Given the description of an element on the screen output the (x, y) to click on. 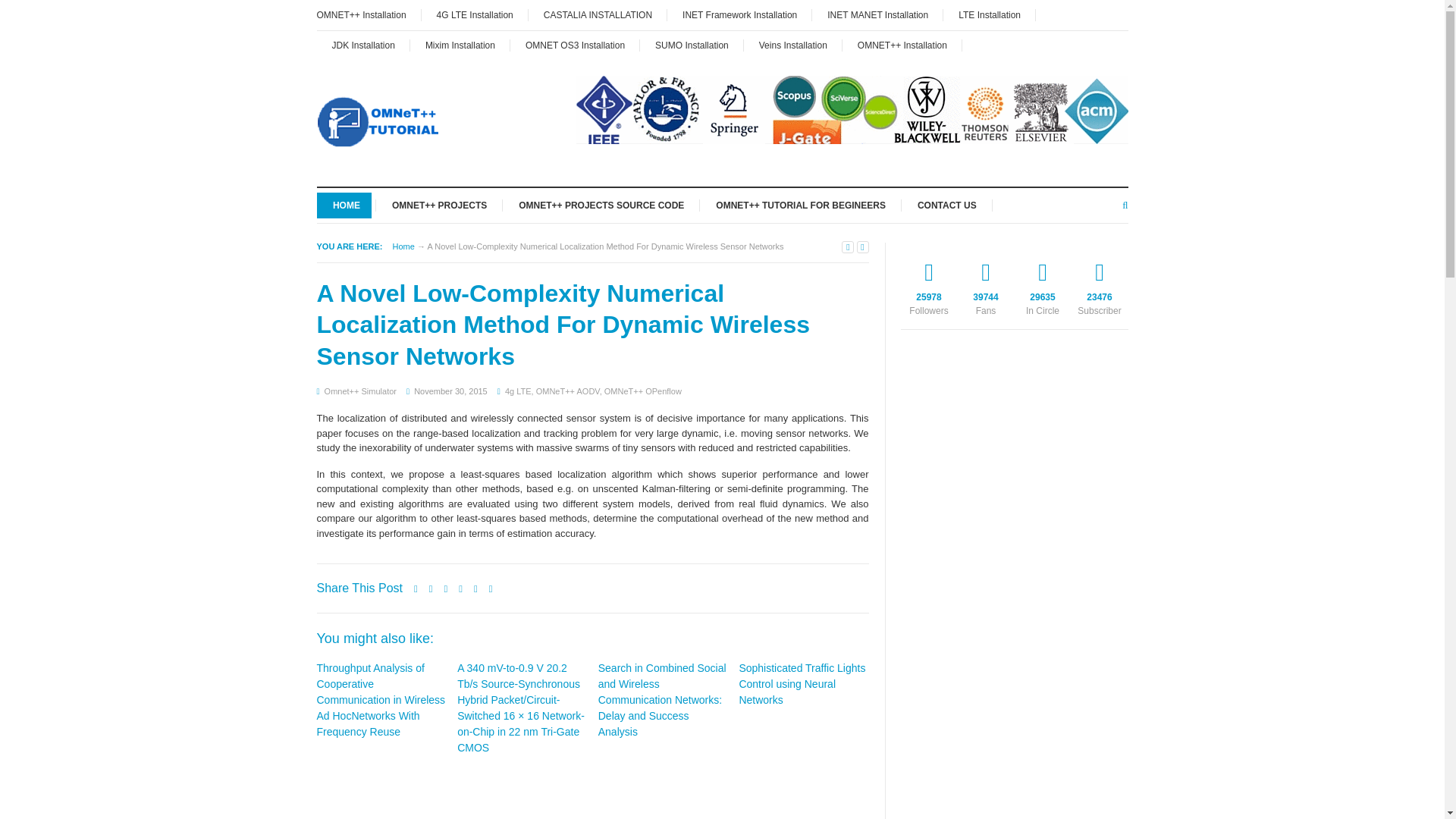
JDK Installation (363, 45)
GooglePlus (1042, 284)
INET MANET Installation (877, 15)
4G LTE Installation (475, 15)
Veins Installation (793, 45)
OMNET OS3 Installation (575, 45)
INET Framework Installation (739, 15)
Facebook (984, 284)
CASTALIA INSTALLATION (597, 15)
Previous Post (847, 246)
